Given the description of an element on the screen output the (x, y) to click on. 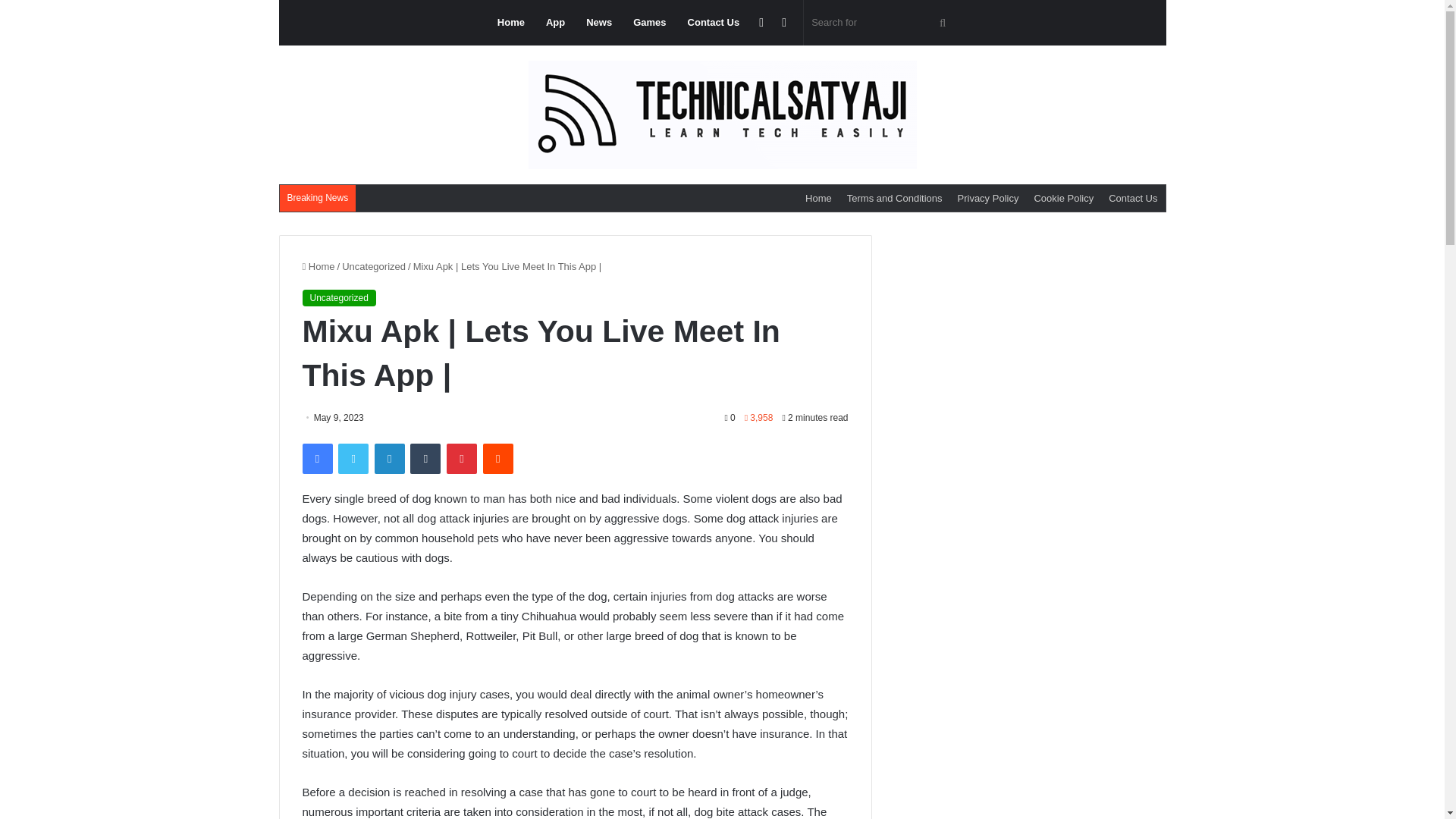
Games (650, 22)
Reddit (498, 458)
Uncategorized (374, 266)
Home (818, 198)
Twitter (352, 458)
Contact Us (1132, 198)
News (599, 22)
Tumblr (425, 458)
Facebook (316, 458)
Reddit (498, 458)
